Given the description of an element on the screen output the (x, y) to click on. 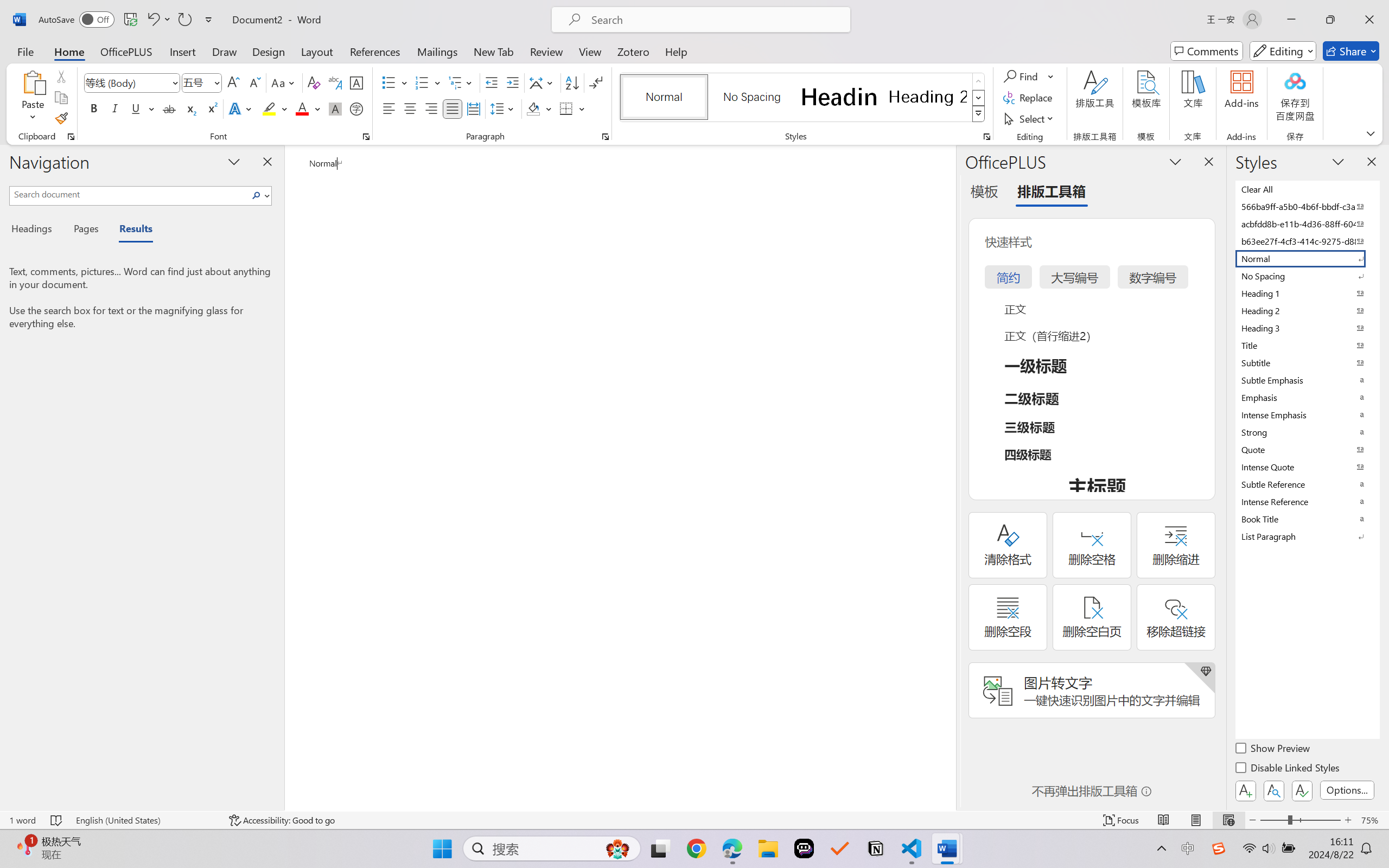
Subtle Emphasis (1306, 379)
Design (268, 51)
Draw (224, 51)
Repeat Style (184, 19)
Layout (316, 51)
Show Preview (1273, 749)
Clear All (1306, 188)
Change Case (284, 82)
AutoSave (76, 19)
View (589, 51)
Align Left (388, 108)
